Given the description of an element on the screen output the (x, y) to click on. 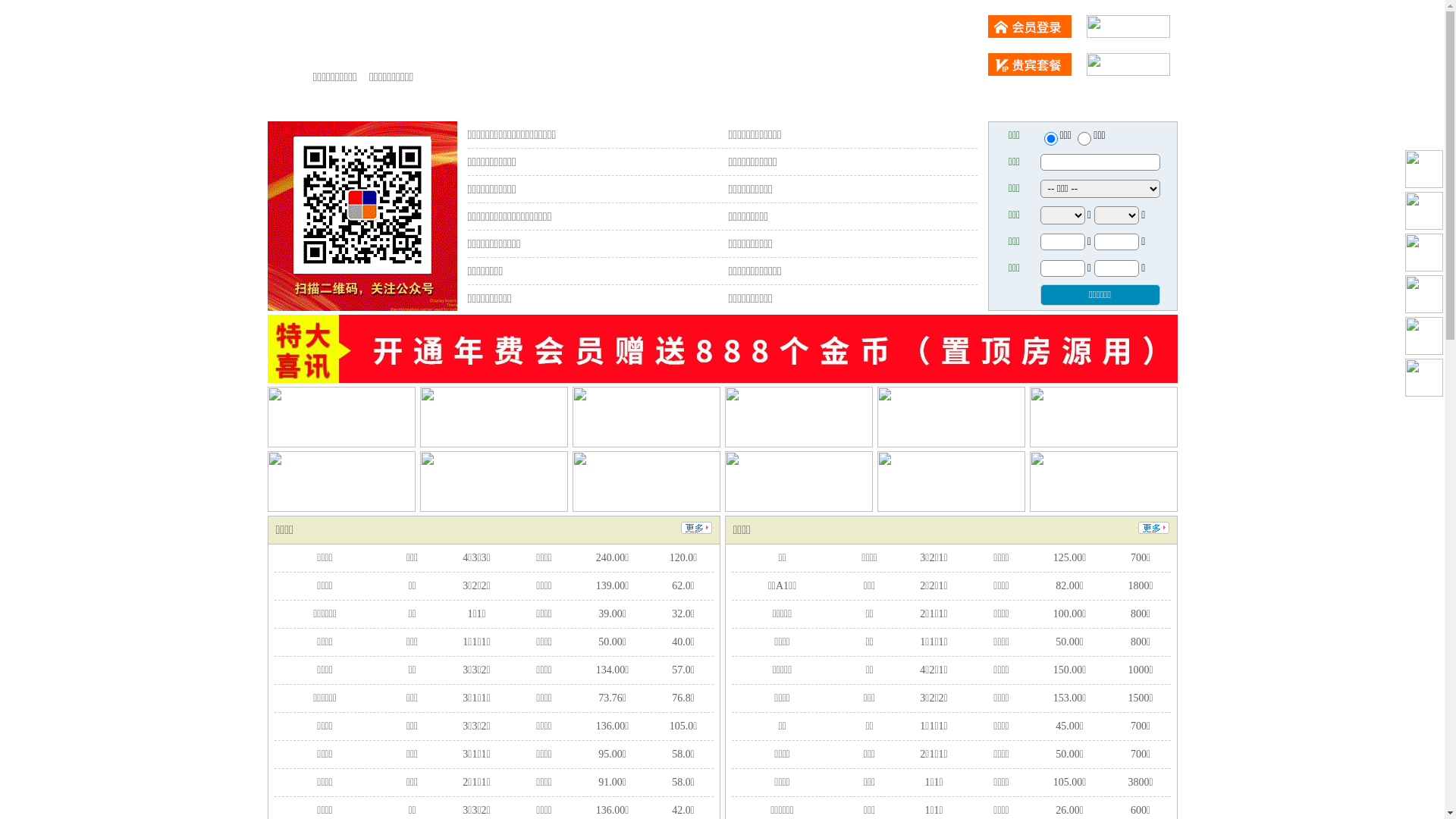
chuzu Element type: text (1084, 138)
ershou Element type: text (1050, 138)
